Given the description of an element on the screen output the (x, y) to click on. 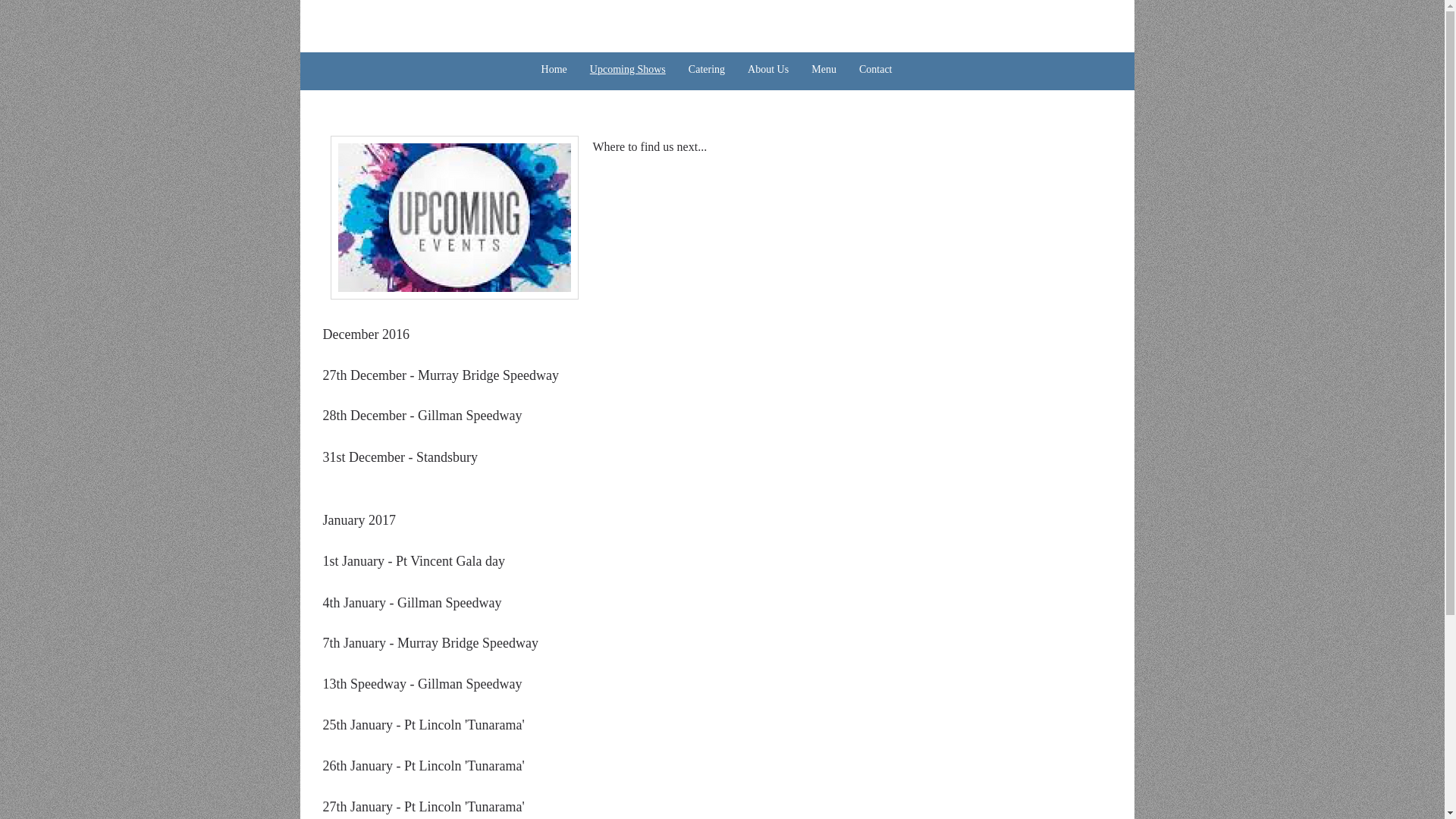
Home Element type: text (553, 69)
About Us Element type: text (768, 69)
Menu Element type: text (823, 69)
Contact Element type: text (875, 69)
Catering Element type: text (706, 69)
Upcoming Shows Element type: text (627, 69)
